Given the description of an element on the screen output the (x, y) to click on. 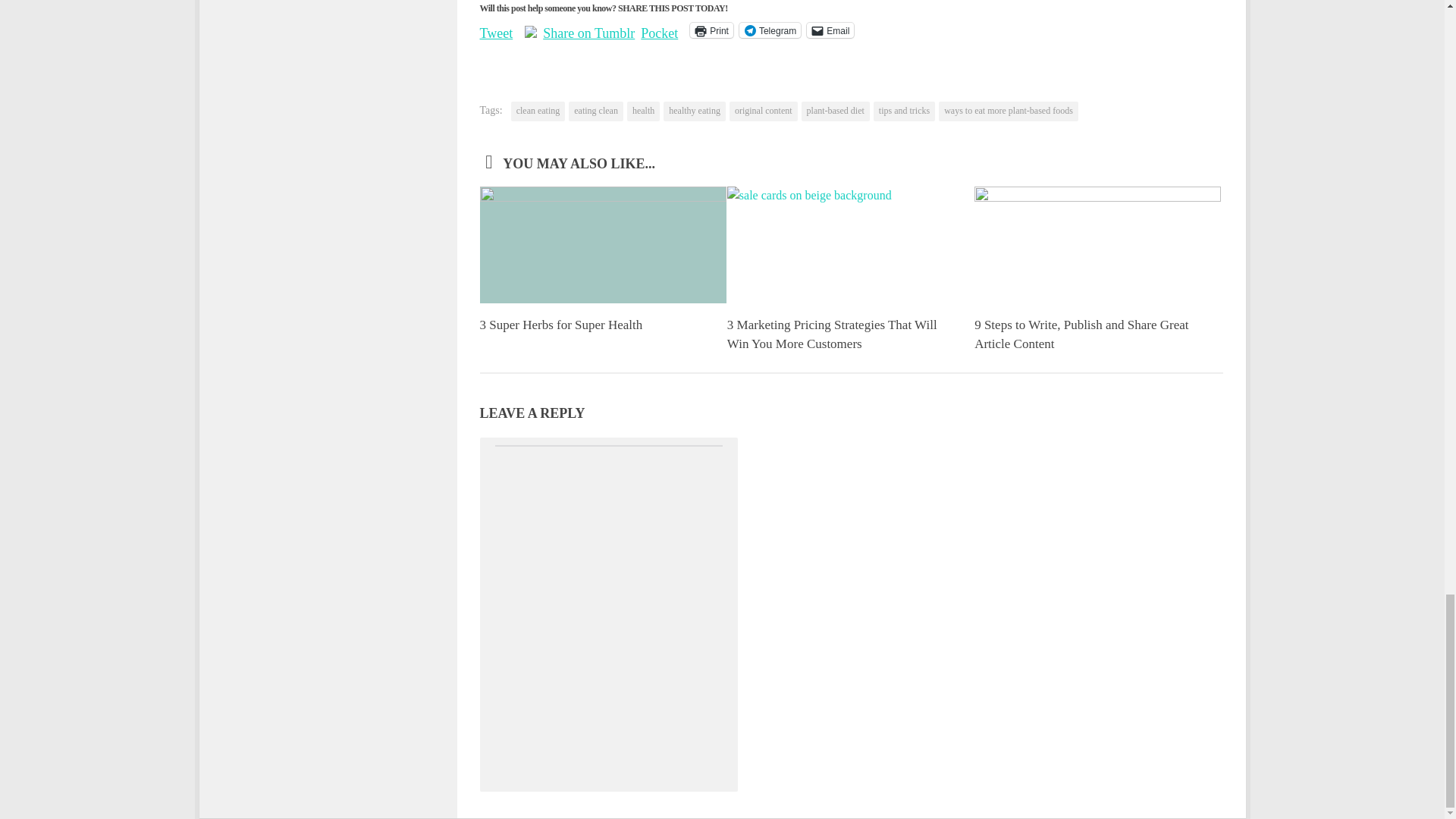
Comment Form (608, 608)
Click to email a link to a friend (829, 29)
Click to share on Telegram (769, 29)
Click to print (711, 29)
Share on Tumblr (588, 29)
